Given the description of an element on the screen output the (x, y) to click on. 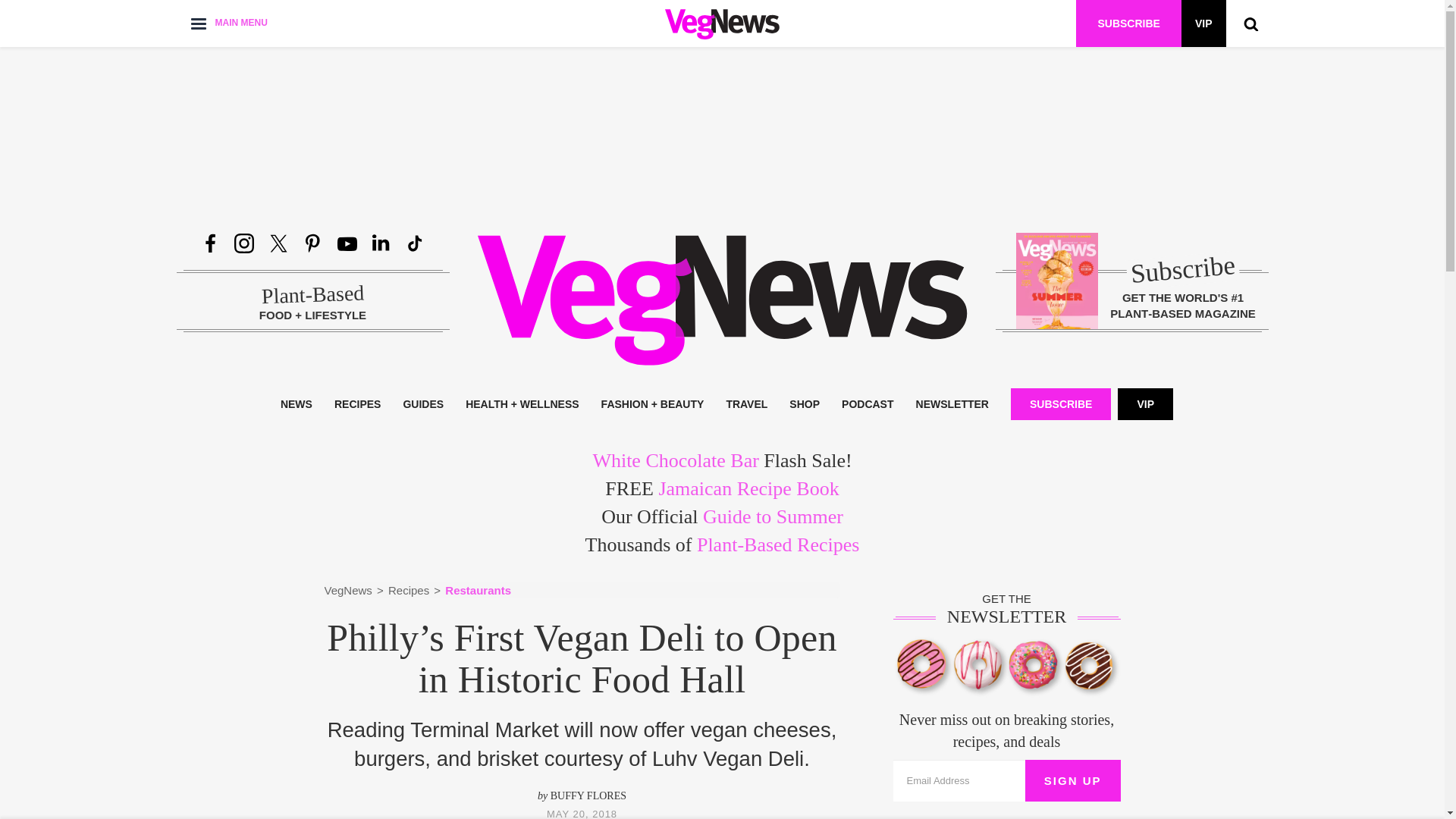
Sign Up (1073, 780)
Show search (1250, 22)
MAIN MENU (228, 23)
Become a VIP (1202, 23)
